Given the description of an element on the screen output the (x, y) to click on. 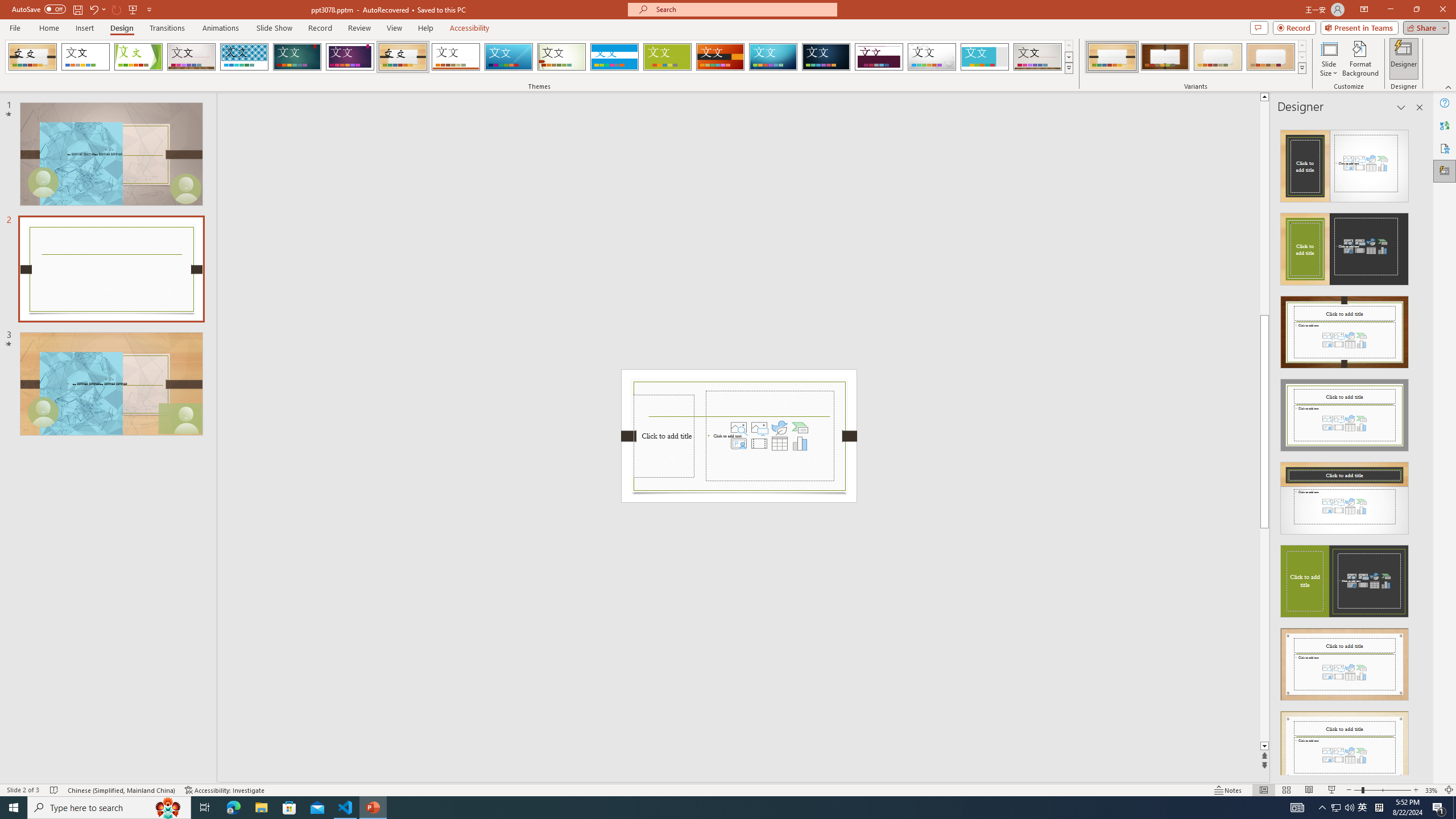
Insert a SmartArt Graphic (799, 427)
Insert Cameo (738, 443)
Design Idea (1344, 743)
Insert Chart (799, 443)
